Given the description of an element on the screen output the (x, y) to click on. 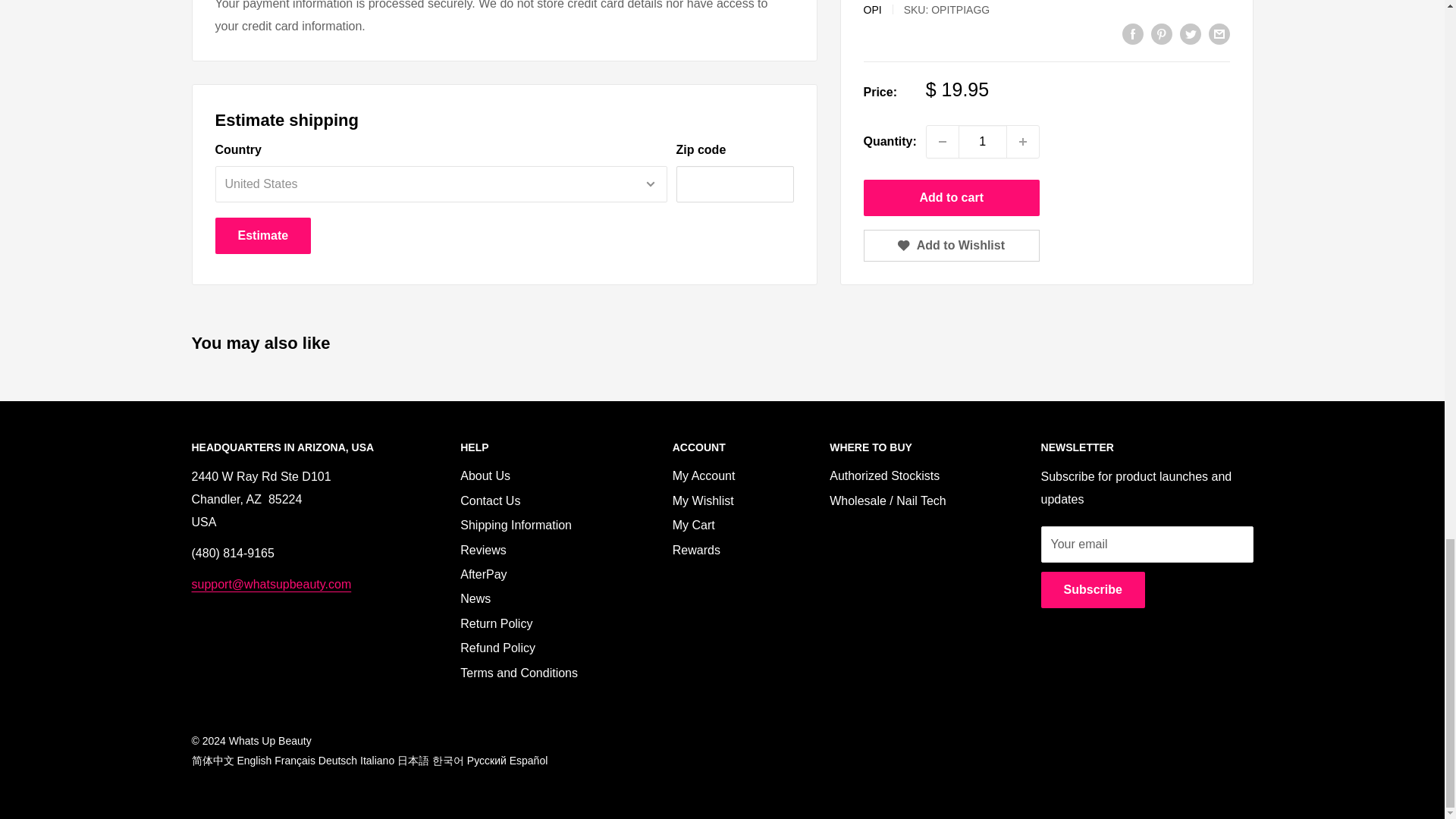
English (252, 760)
Italiano (376, 760)
Deutsch (337, 760)
